Given the description of an element on the screen output the (x, y) to click on. 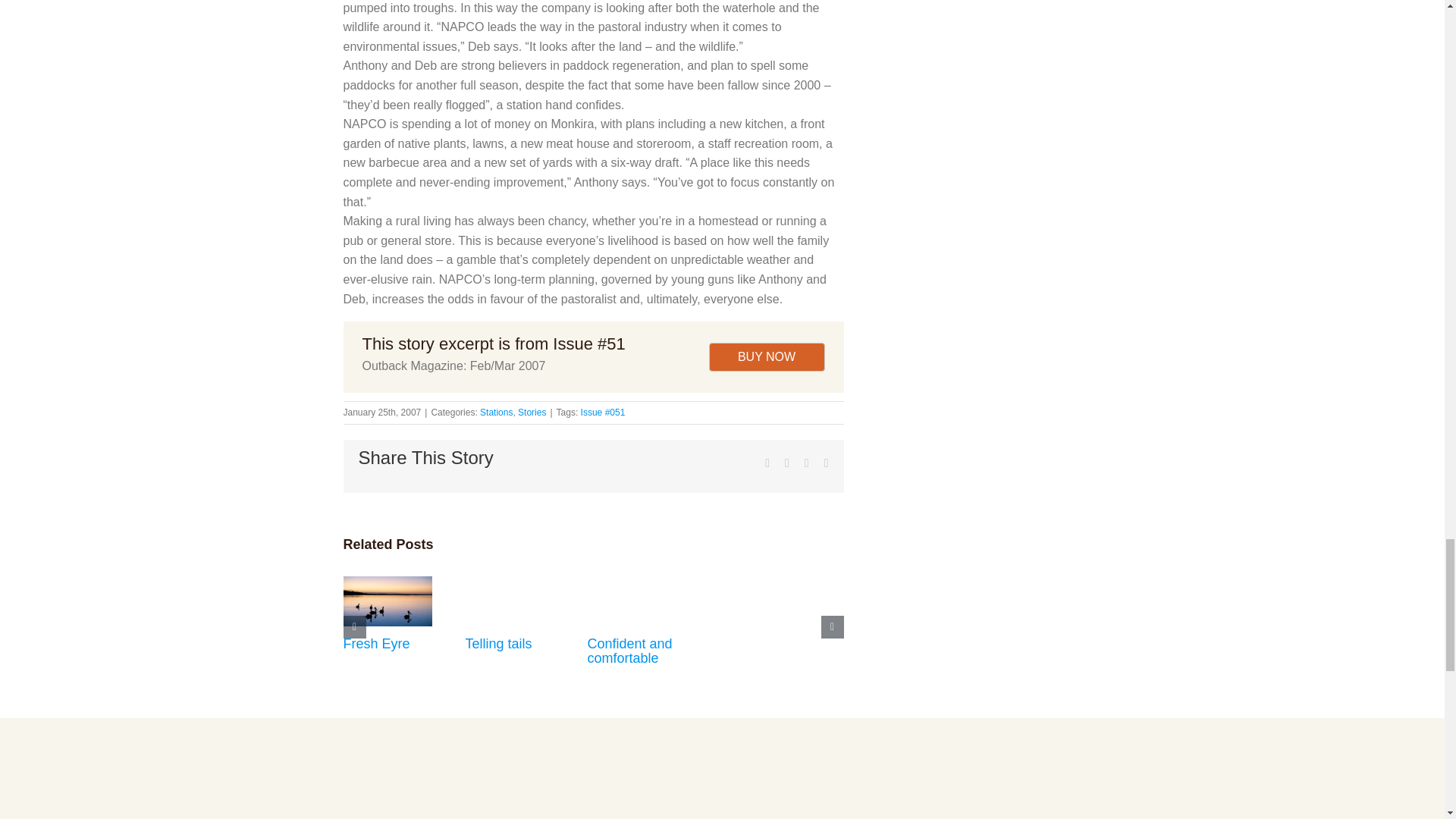
Telling tails (498, 643)
Confident and comfortable (628, 651)
Fresh Eyre (375, 643)
Fresh Eyre (375, 643)
Stations (496, 412)
Telling tails (498, 643)
Stories (532, 412)
BUY NOW (765, 357)
heading-books-and-more-cta (974, 810)
heading-subscription-cta (468, 810)
